Given the description of an element on the screen output the (x, y) to click on. 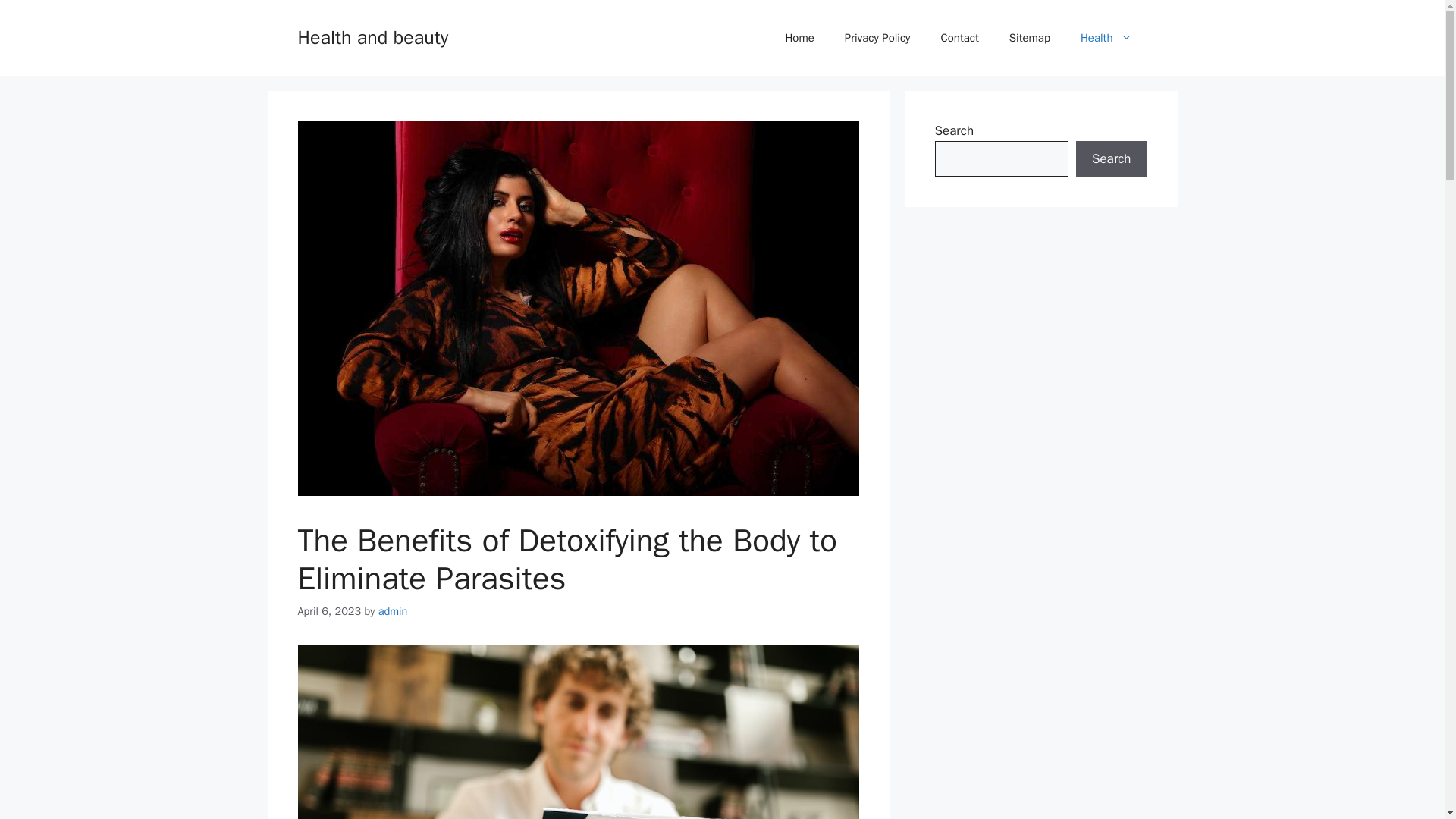
Sitemap (1029, 37)
View all posts by admin (392, 611)
Health (1106, 37)
Contact (958, 37)
Privacy Policy (877, 37)
admin (392, 611)
Home (799, 37)
Health and beauty (372, 37)
Search (1111, 158)
